Given the description of an element on the screen output the (x, y) to click on. 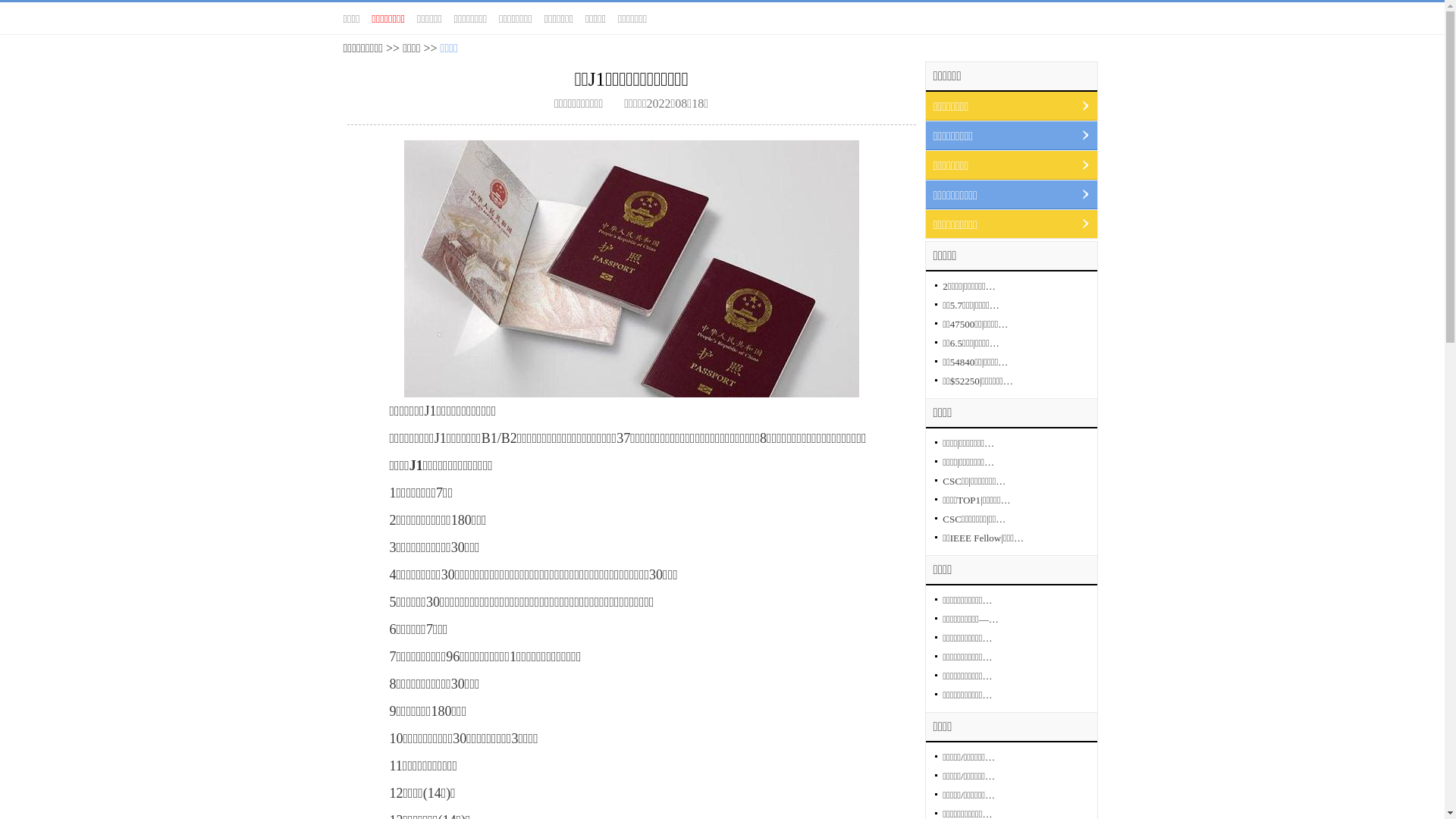
202208181729390390.jpg Element type: hover (630, 268)
